Given the description of an element on the screen output the (x, y) to click on. 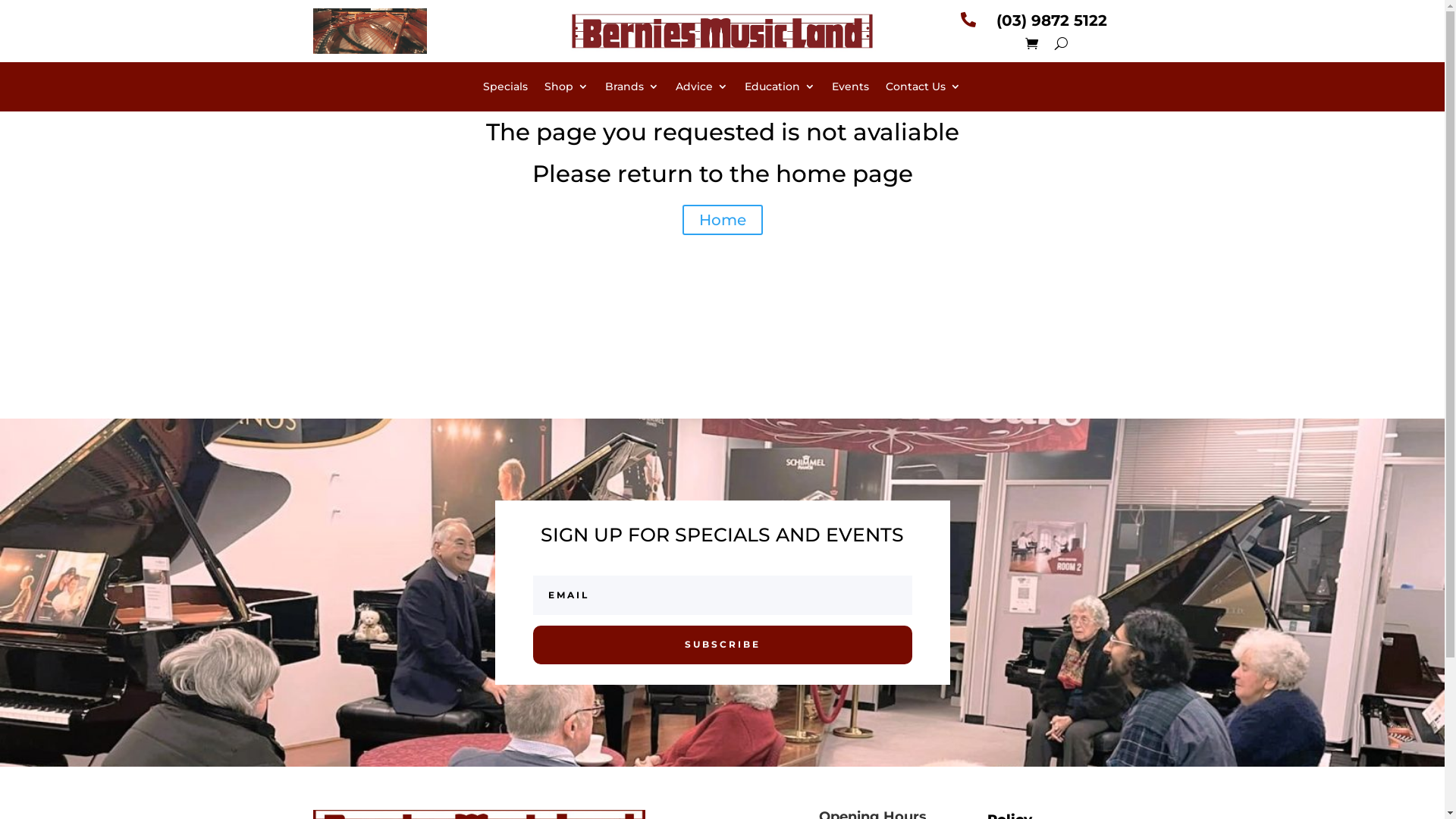
Specials Element type: text (505, 89)
Placecard Element type: hover (369, 30)
Advice Element type: text (701, 89)
Contact Us Element type: text (922, 89)
Education Element type: text (779, 89)
Home Element type: text (722, 219)
Events Element type: text (850, 89)
Brands Element type: text (631, 89)
SUBSCRIBE Element type: text (721, 644)
Shop Element type: text (566, 89)
